Given the description of an element on the screen output the (x, y) to click on. 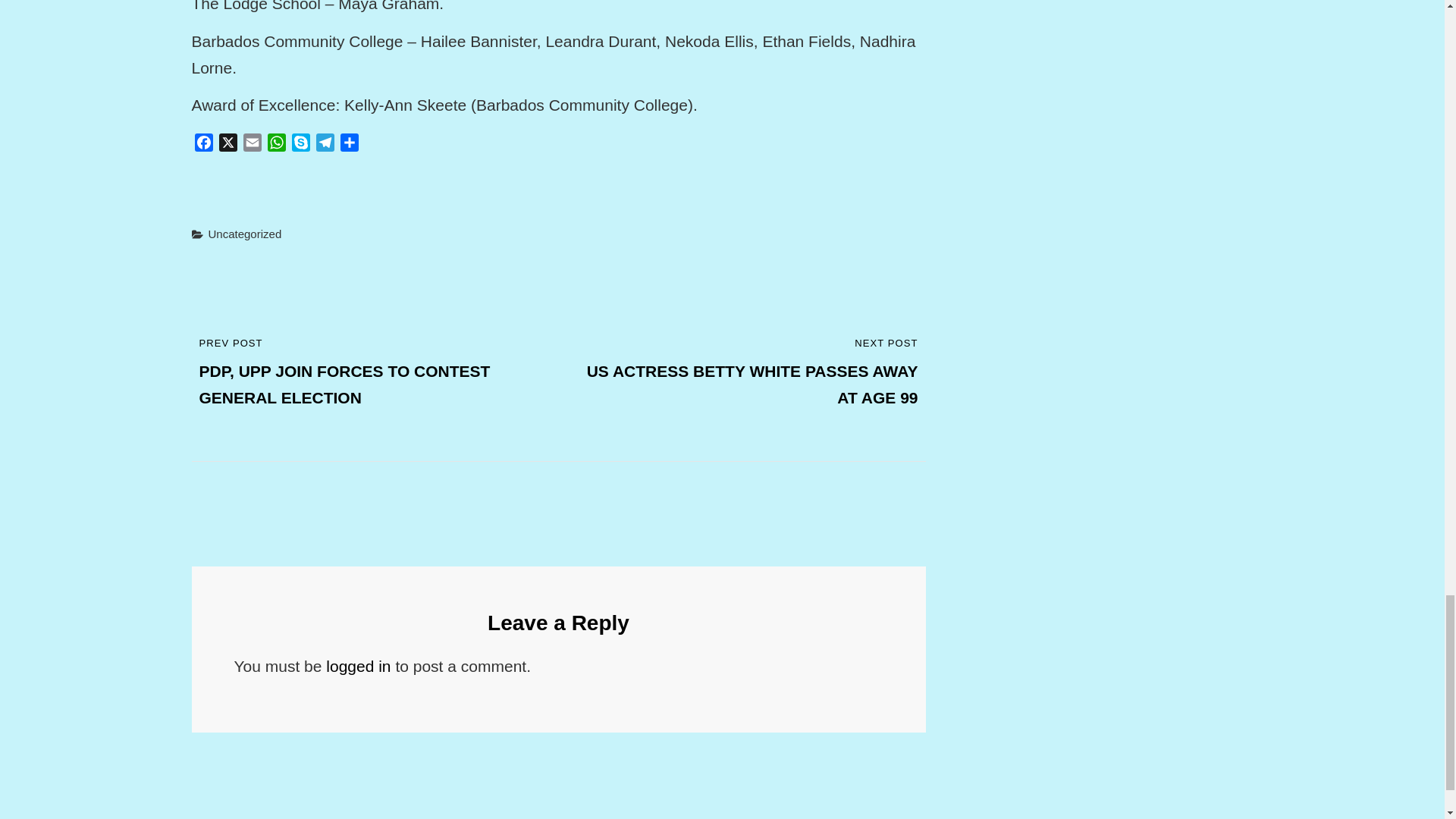
logged in (358, 665)
X (227, 145)
Telegram (324, 145)
Email (251, 145)
X (227, 145)
Telegram (324, 145)
WhatsApp (275, 145)
Skype (300, 145)
Facebook (202, 145)
